Given the description of an element on the screen output the (x, y) to click on. 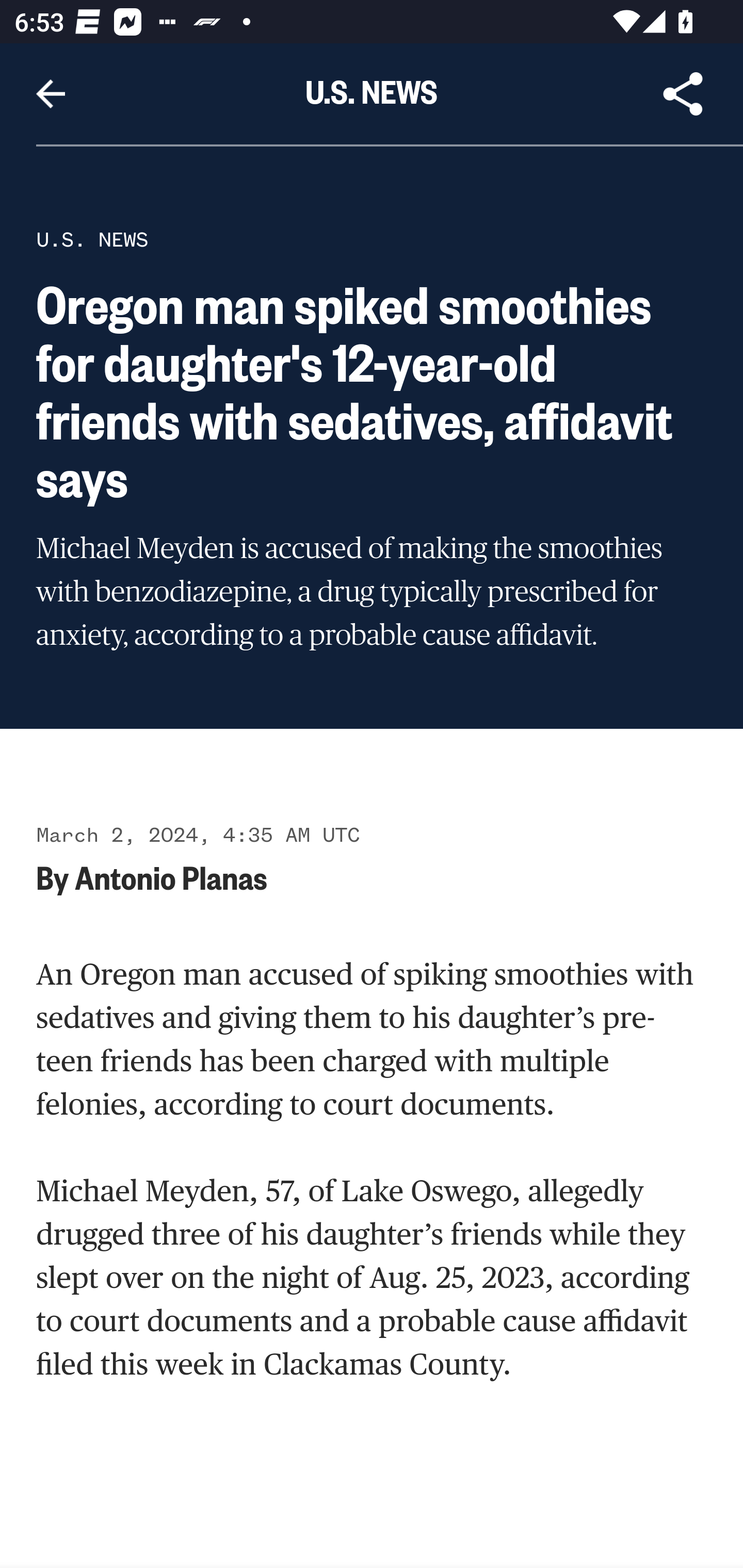
Navigate up (50, 93)
Share Article, button (683, 94)
U.S. NEWS (91, 239)
